Given the description of an element on the screen output the (x, y) to click on. 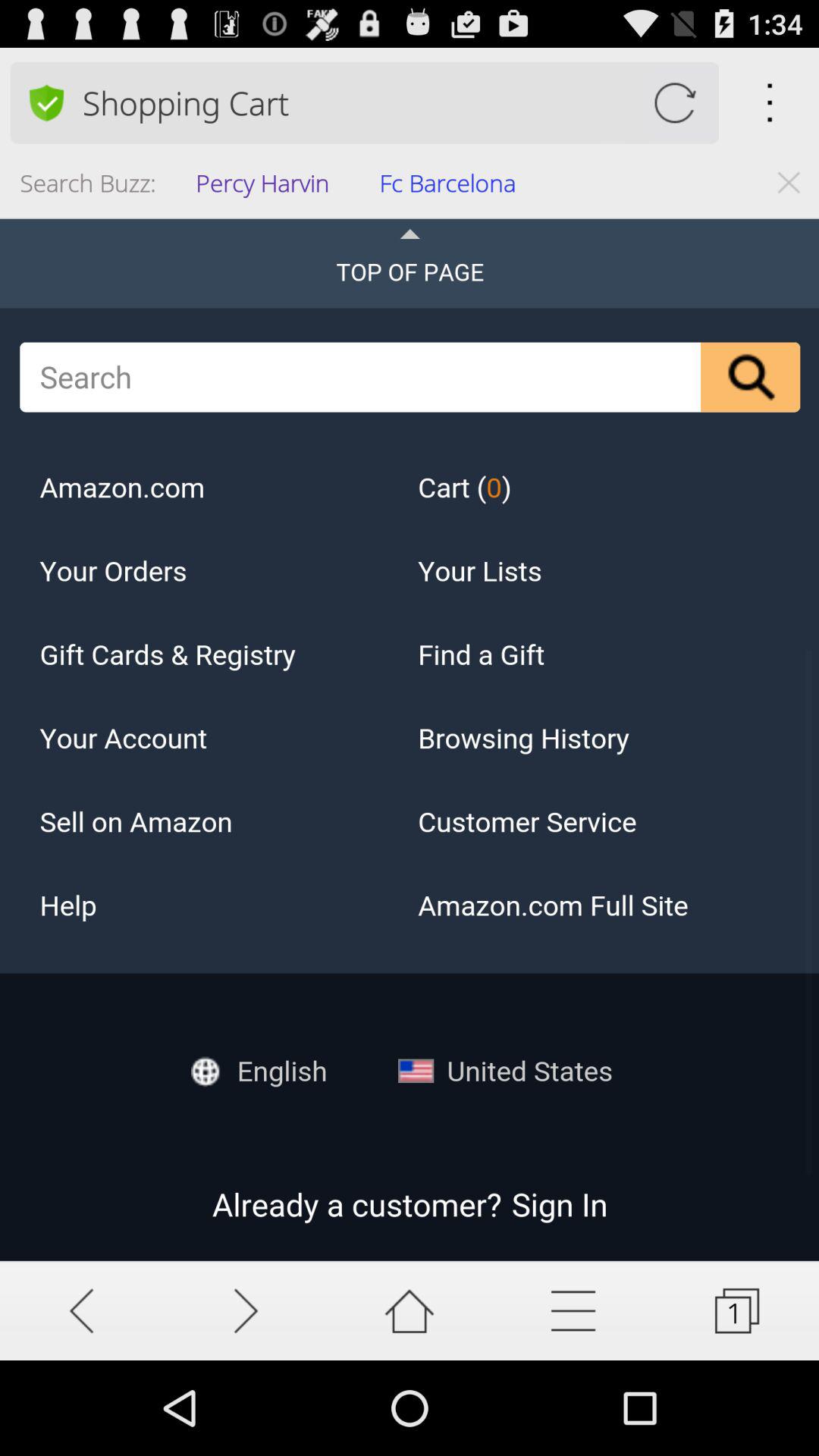
go forward (245, 1310)
